Given the description of an element on the screen output the (x, y) to click on. 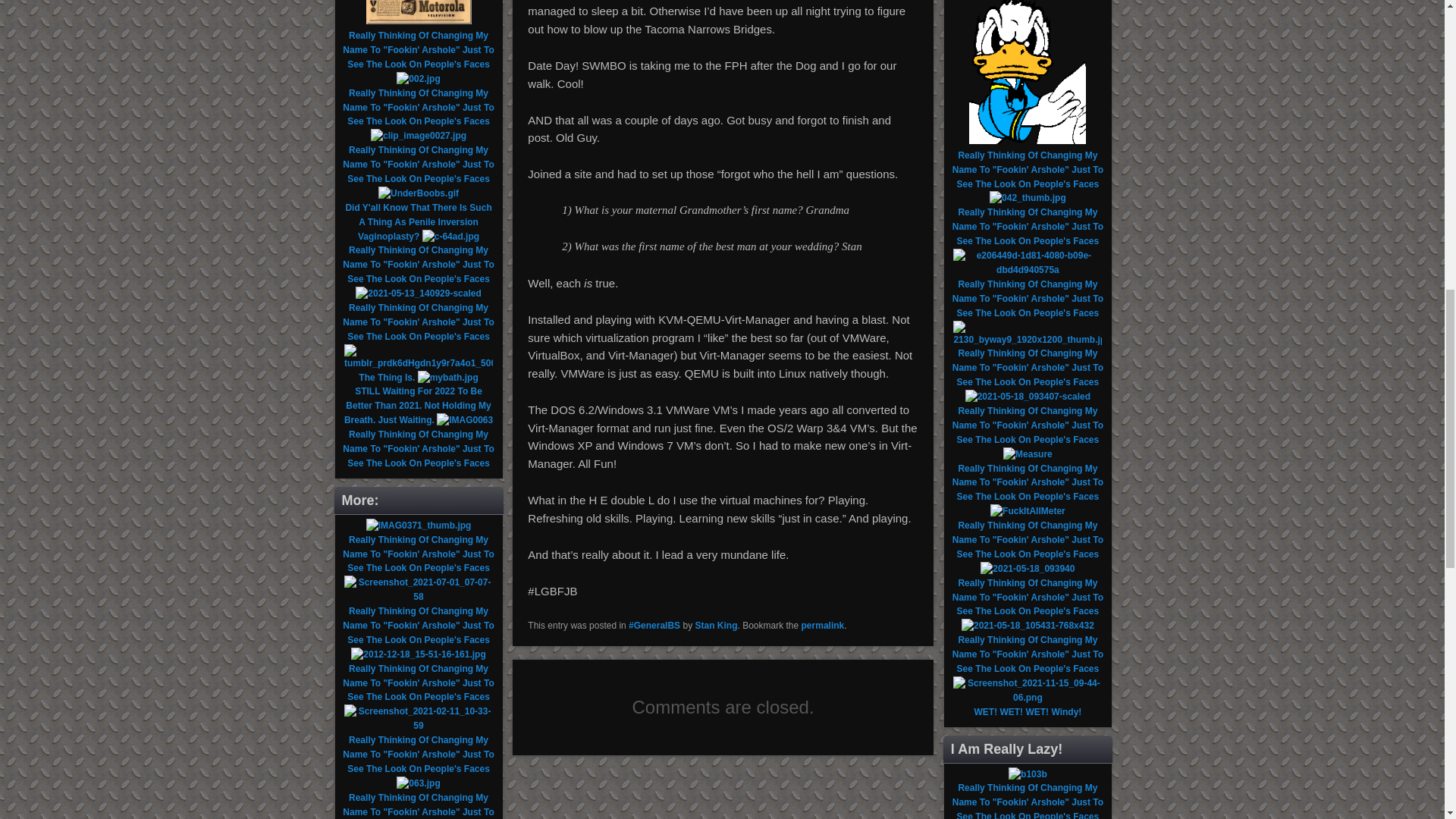
permalink (823, 624)
Stan King (715, 624)
The Thing Is. (386, 377)
